Given the description of an element on the screen output the (x, y) to click on. 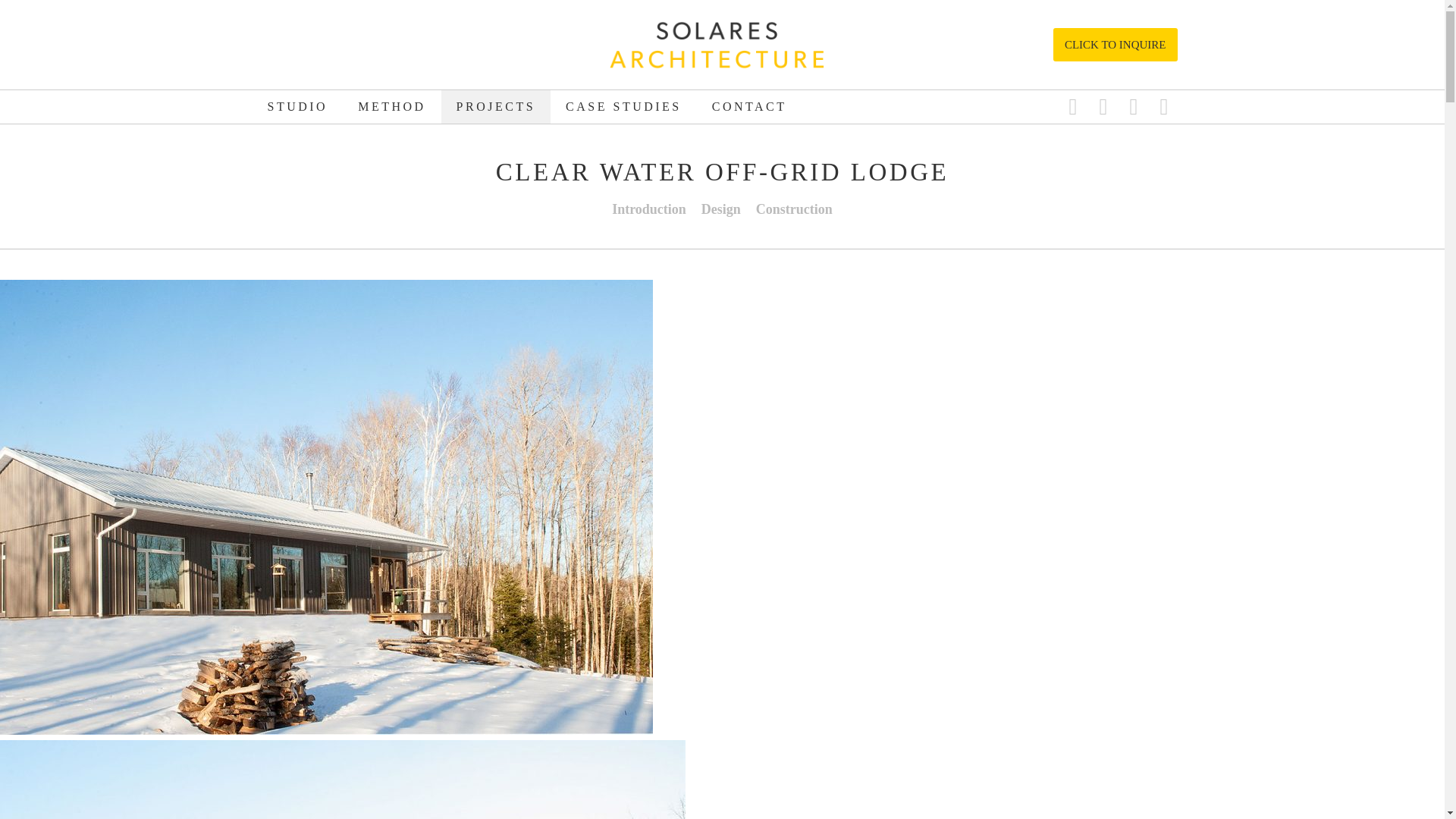
PROJECTS (495, 106)
STUDIO (296, 106)
Construction (794, 203)
Introduction (649, 203)
METHOD (391, 106)
Construction (794, 203)
CLICK TO INQUIRE (1114, 44)
CONTACT (749, 106)
Introduction (649, 203)
Design (721, 203)
